Given the description of an element on the screen output the (x, y) to click on. 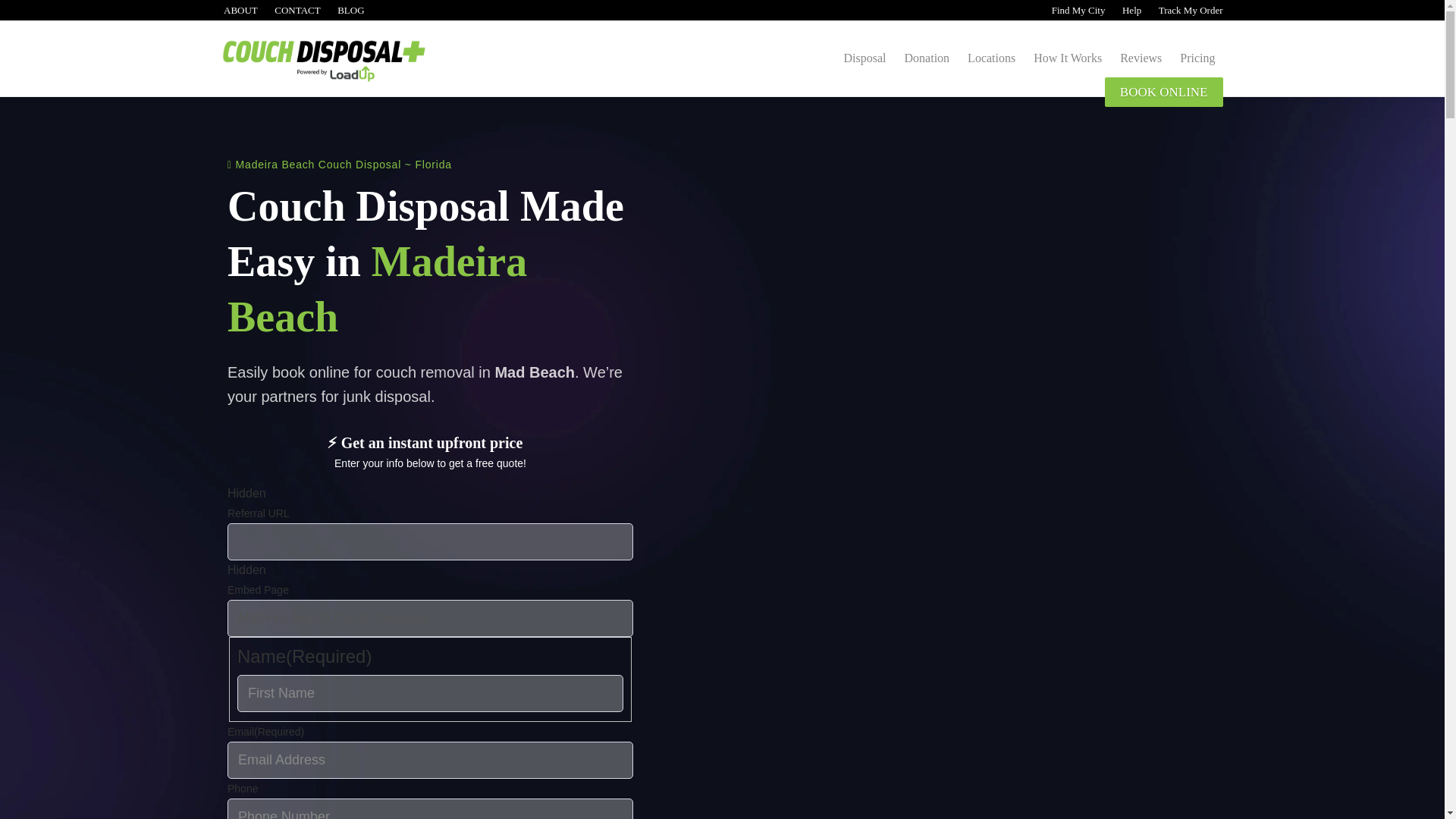
Reviews (1140, 57)
Find My City (1077, 10)
Couch Disposal Plus (348, 65)
Pricing (1197, 57)
Donation (927, 57)
Help (1130, 10)
Locations (991, 57)
ABOUT (239, 10)
BOOK ONLINE (1164, 91)
How It Works (1067, 57)
